Given the description of an element on the screen output the (x, y) to click on. 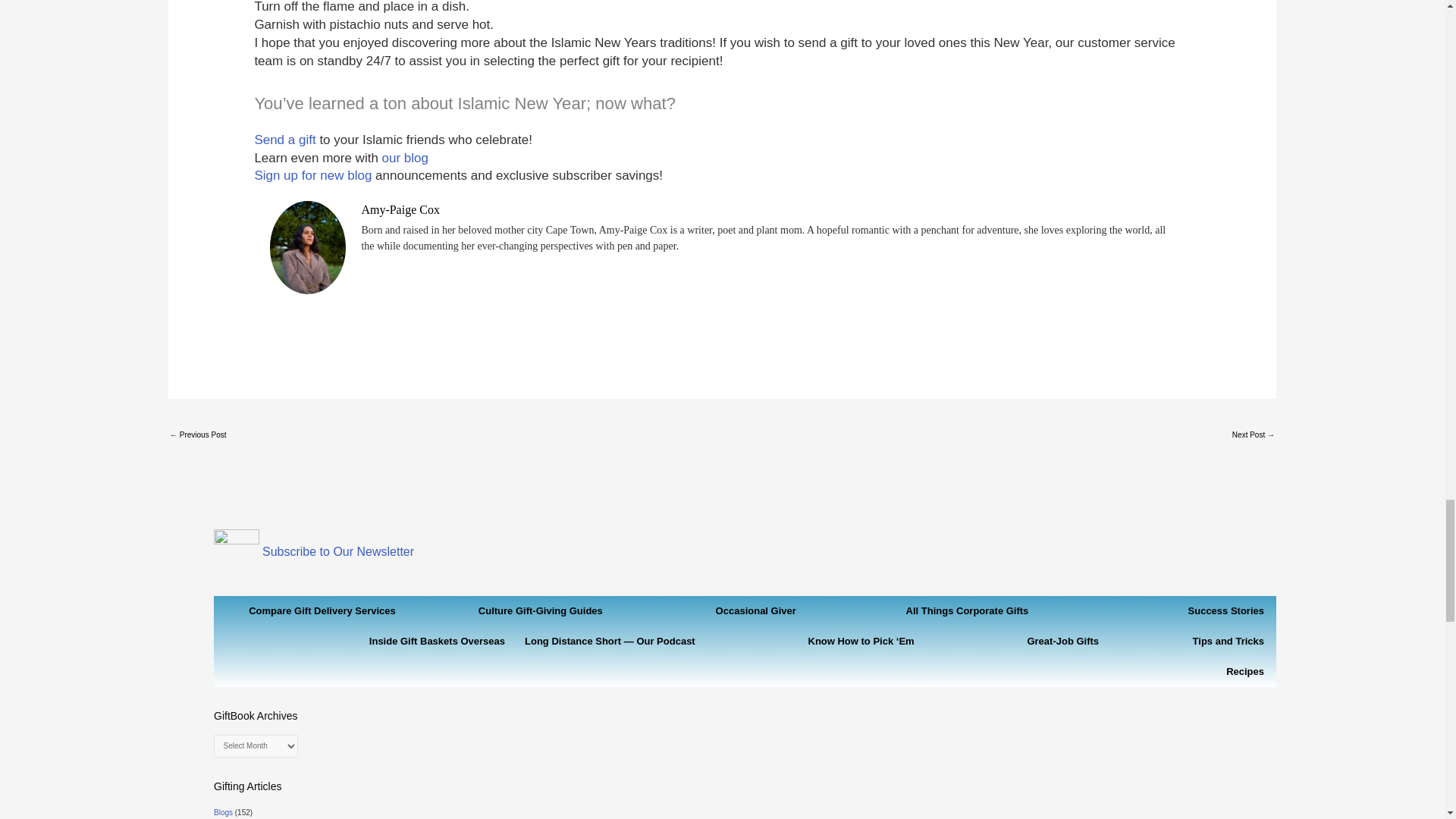
Amy-Paige Cox (400, 209)
Subscribe to Our Newsletter (337, 551)
Send a gift (285, 139)
Sign up for new blog (312, 175)
our blog (404, 157)
Compare Gift Delivery Services (324, 611)
